Given the description of an element on the screen output the (x, y) to click on. 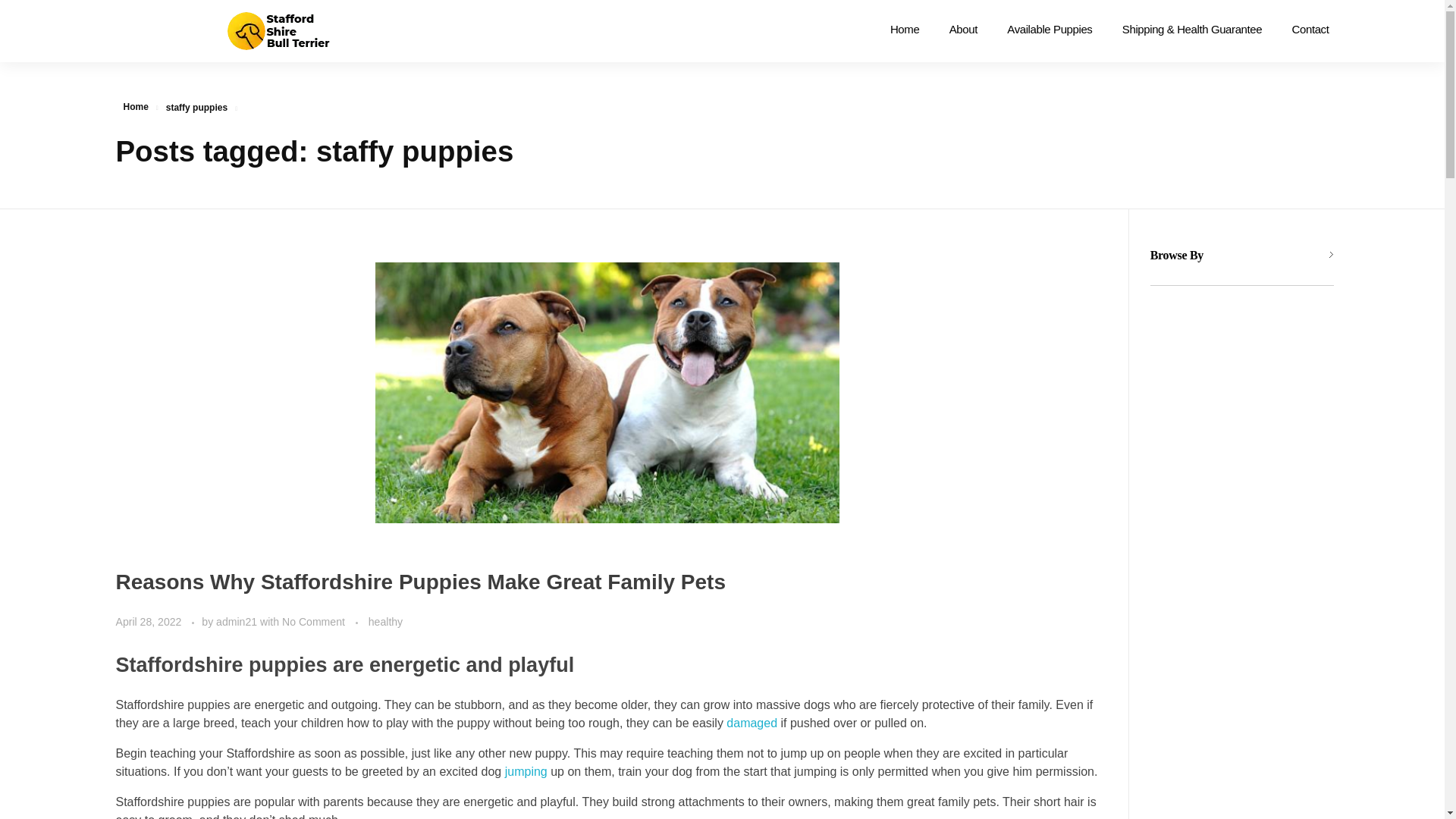
No Comment (313, 621)
healthy (385, 621)
Home (135, 106)
admin21 (237, 621)
jumping (526, 771)
Home (911, 29)
April 28, 2022 (149, 621)
About (963, 29)
Contact (1302, 29)
View all posts in healthy (385, 621)
